Given the description of an element on the screen output the (x, y) to click on. 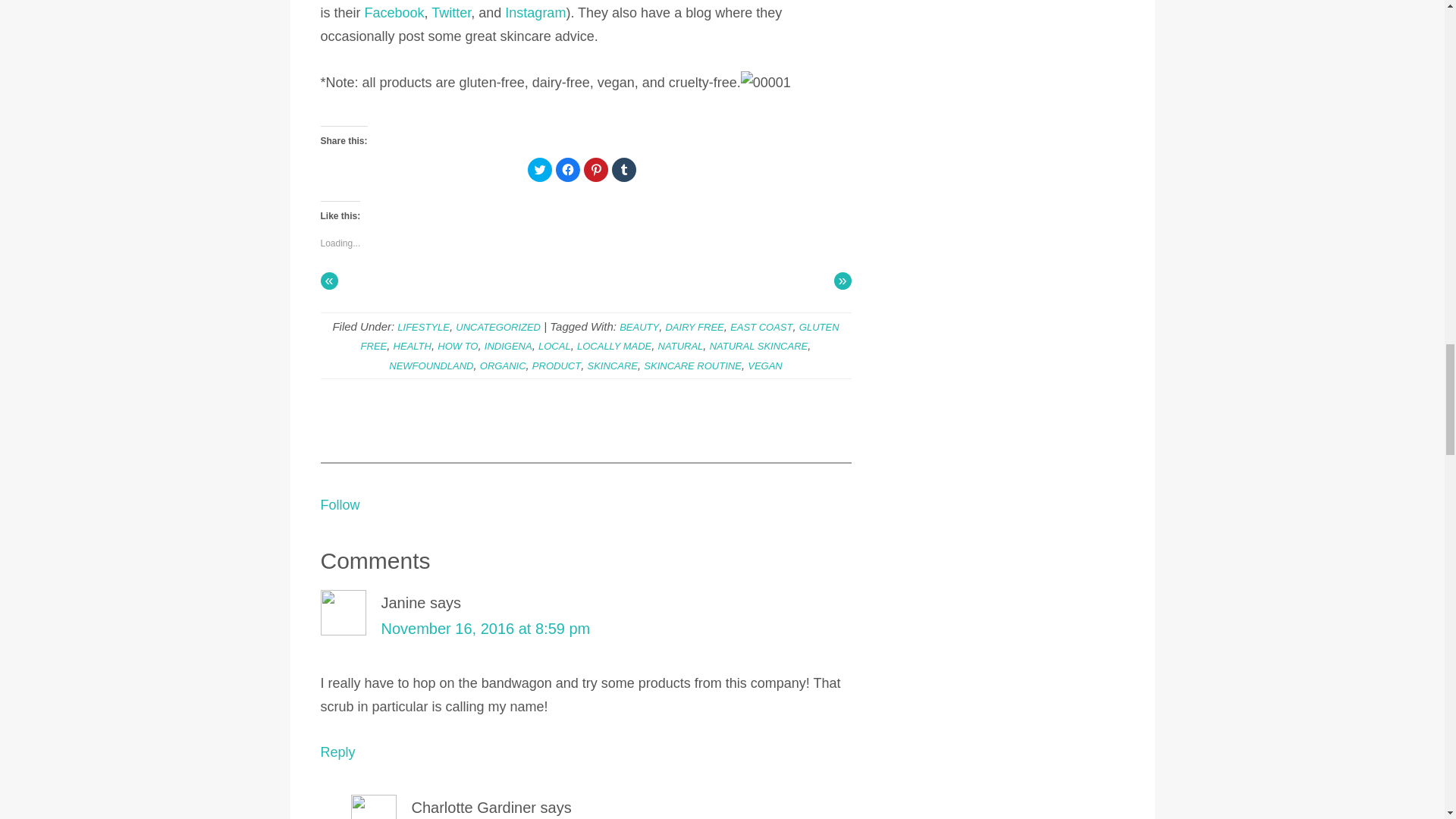
Twitter (450, 12)
Click to share on Pinterest (595, 169)
Click to share on Twitter (539, 169)
Facebook (395, 12)
Click to share on Facebook (567, 169)
Click to share on Tumblr (623, 169)
Next Post: DIY Photo Garland (842, 280)
Instagram (535, 12)
Previous Post: Travel Diary: Arizona and Nevada Roadtrip (328, 280)
